Given the description of an element on the screen output the (x, y) to click on. 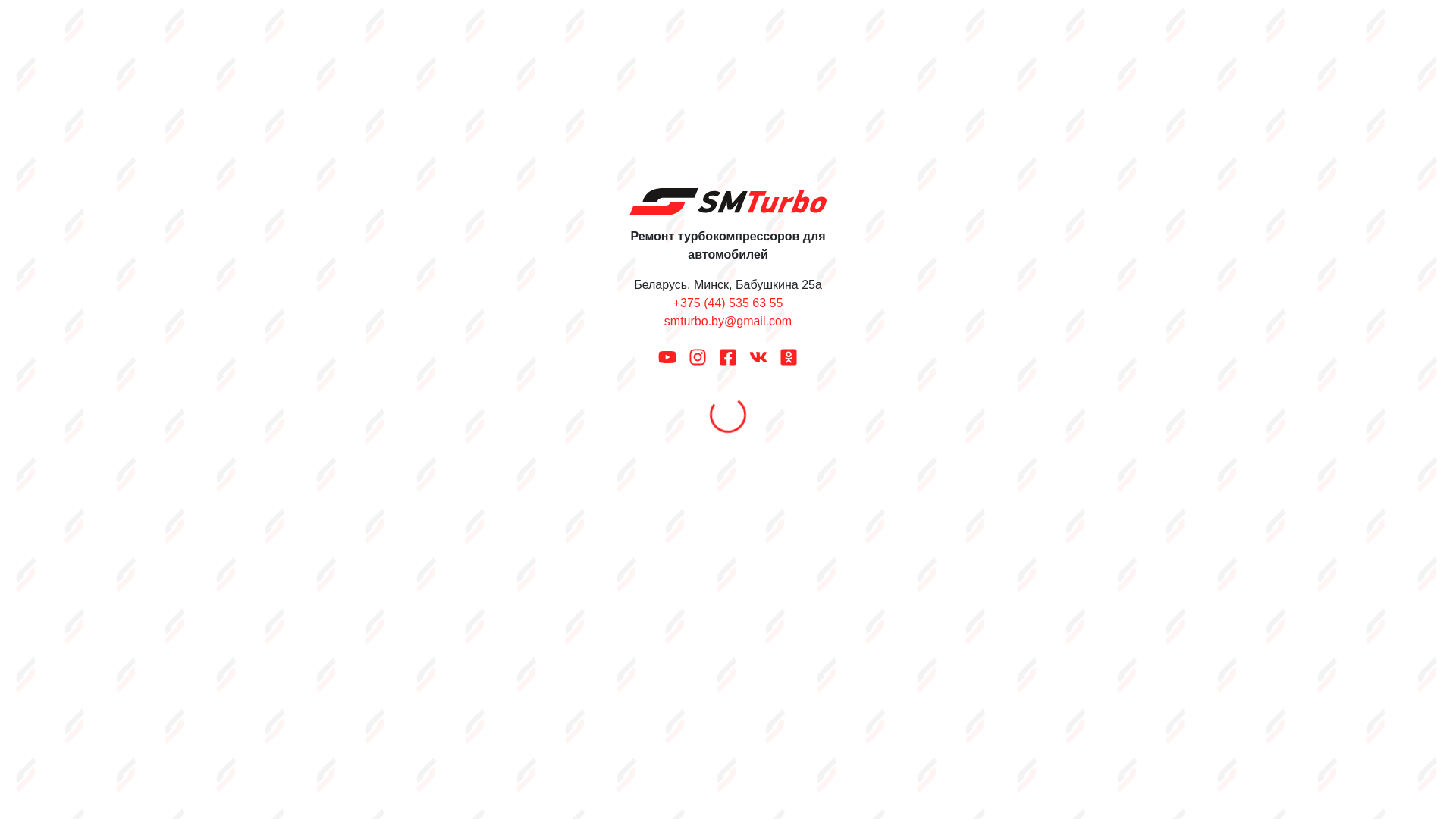
smturbo.by@gmail.com Element type: text (727, 320)
Facebook Element type: hover (727, 355)
OK Element type: hover (788, 355)
Youtube Element type: hover (667, 355)
+375 (44) 535 63 55 Element type: text (728, 302)
VK Element type: hover (758, 355)
Instagram Element type: hover (697, 355)
